Given the description of an element on the screen output the (x, y) to click on. 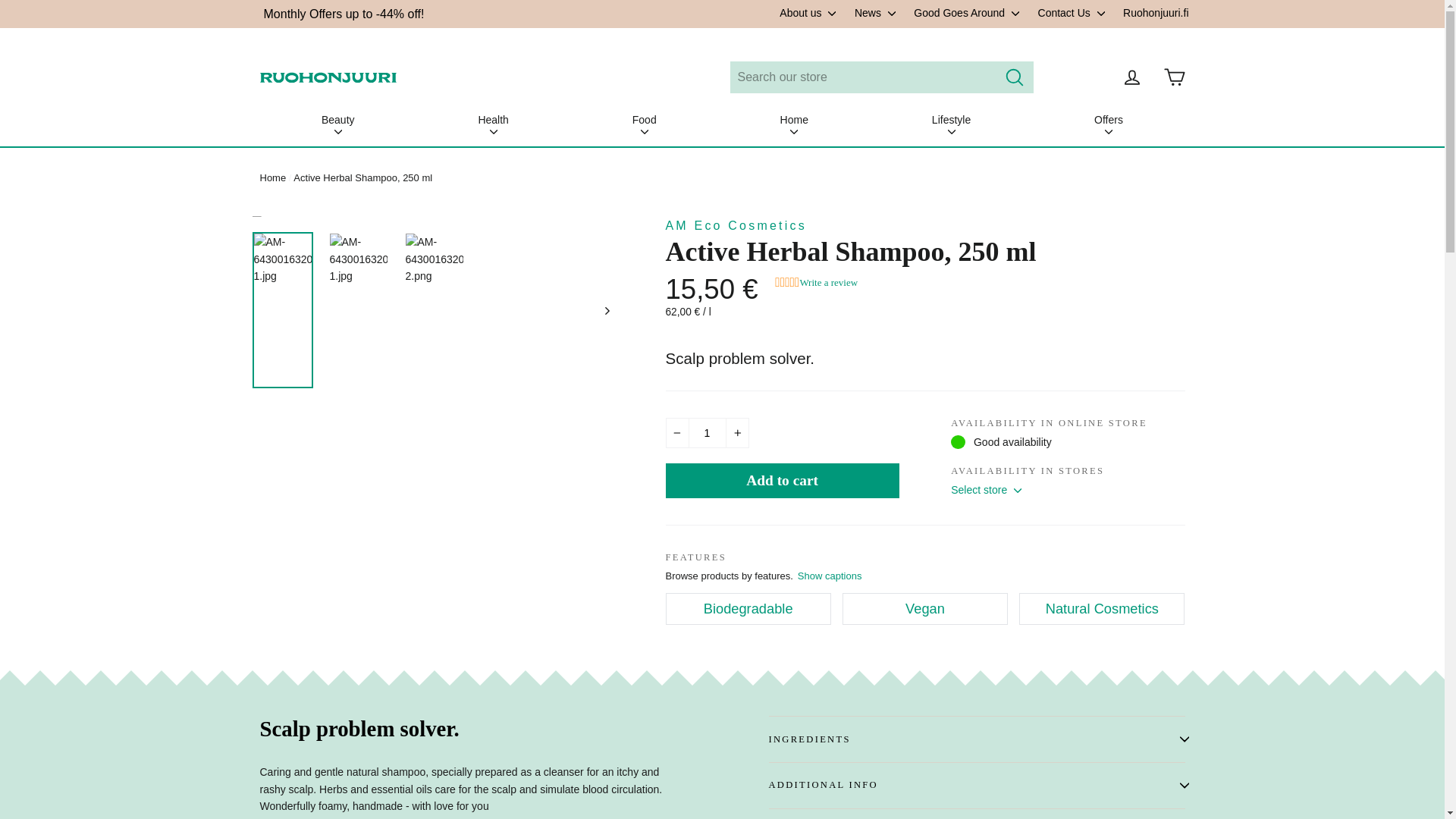
Back to the frontpage (272, 177)
1 (707, 432)
